Given the description of an element on the screen output the (x, y) to click on. 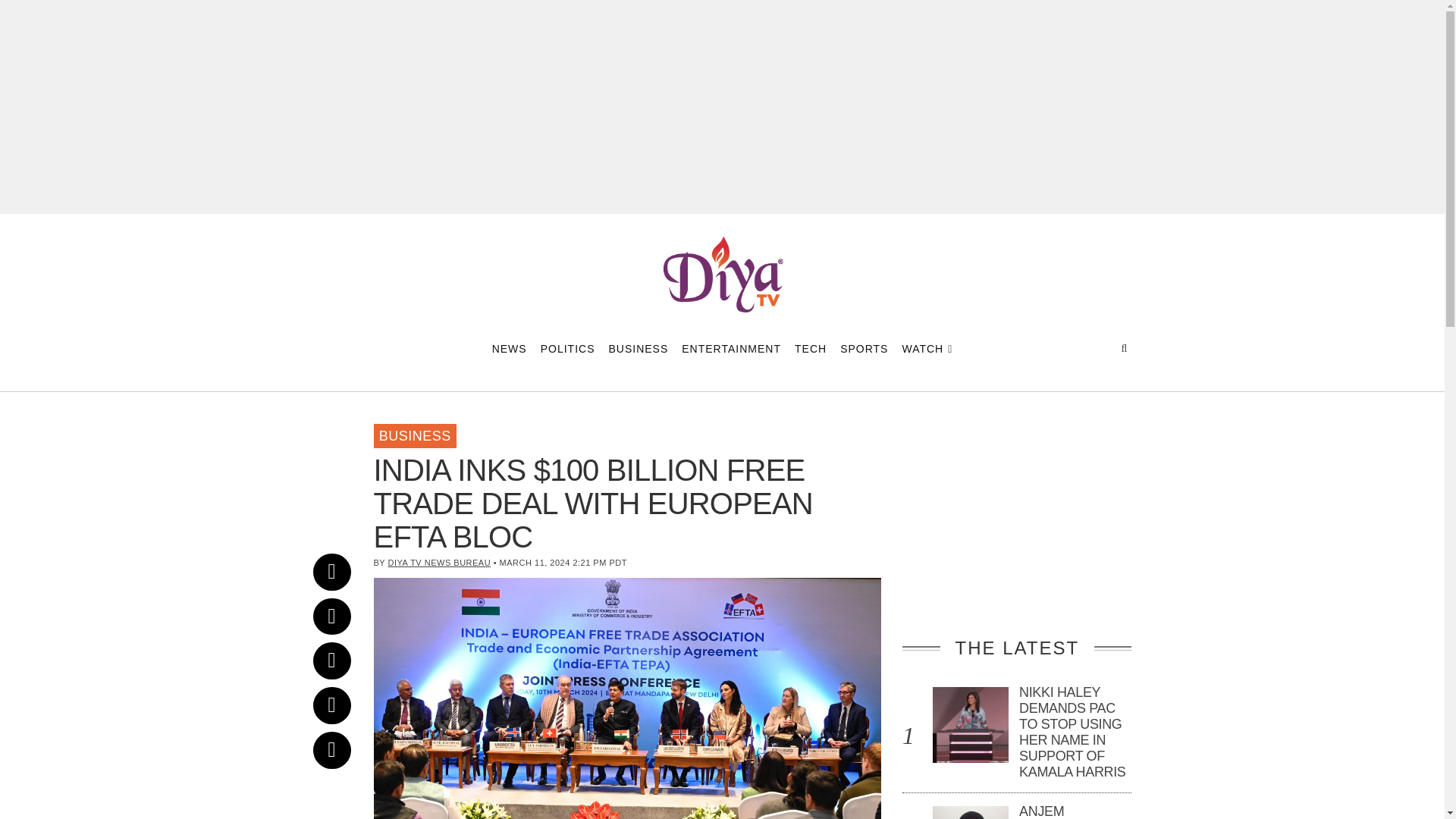
BUSINESS (638, 348)
WATCH (926, 348)
DIYA TV NEWS BUREAU (440, 562)
BUSINESS (413, 435)
3rd party ad content (1016, 518)
POLITICS (567, 348)
SPORTS (864, 348)
March 11, 2024 (342, 424)
ENTERTAINMENT (730, 348)
